Given the description of an element on the screen output the (x, y) to click on. 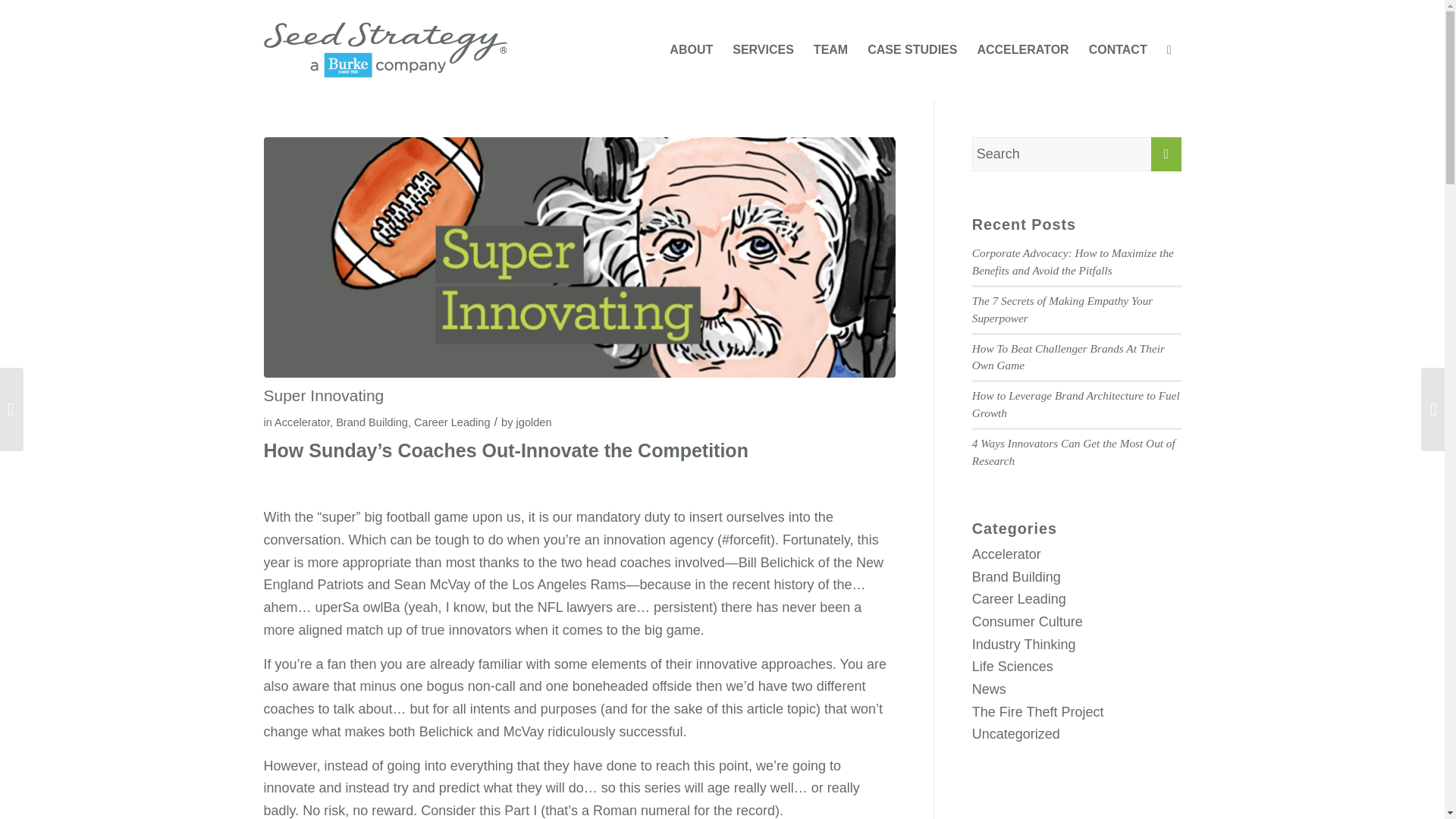
Accelerator (1006, 554)
How To Beat Challenger Brands At Their Own Game (1068, 357)
Accelerator (302, 422)
Brand Building (371, 422)
CASE STUDIES (911, 49)
Brand Building (1016, 576)
Posts by jgolden (533, 422)
How to Leverage Brand Architecture to Fuel Growth (1075, 404)
jgolden (533, 422)
